Given the description of an element on the screen output the (x, y) to click on. 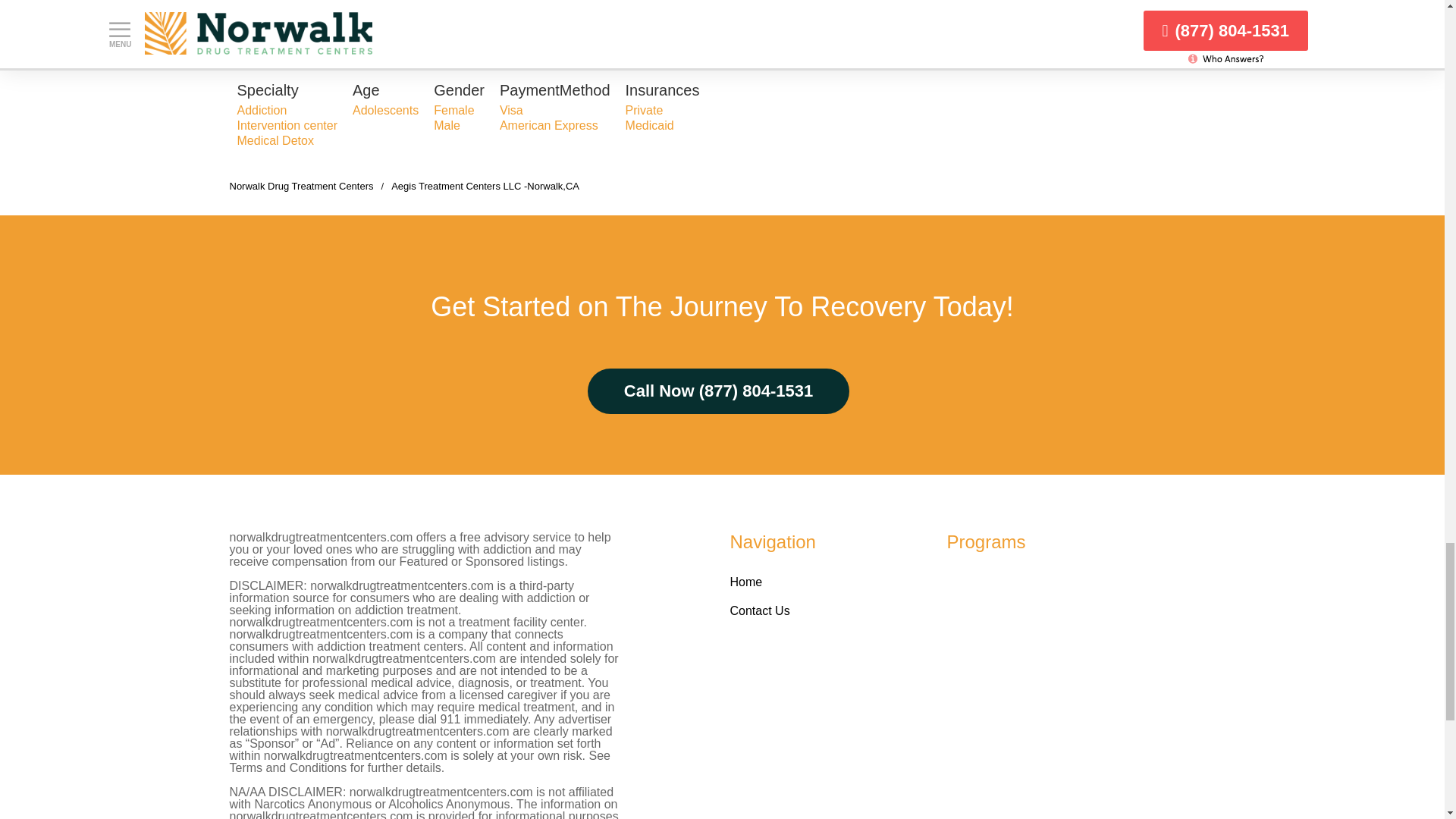
Male (446, 124)
Medicaid (650, 124)
Contact Us (759, 610)
Adolescents (385, 110)
Visa (510, 110)
Aegis Treatment Centers LLC -Norwalk,CA (485, 185)
Norwalk Drug Treatment Centers (300, 185)
Medical Detox (274, 140)
Private (644, 110)
American Express (548, 124)
Home (745, 581)
Addiction (260, 110)
Female (453, 110)
Intervention center (286, 124)
